Given the description of an element on the screen output the (x, y) to click on. 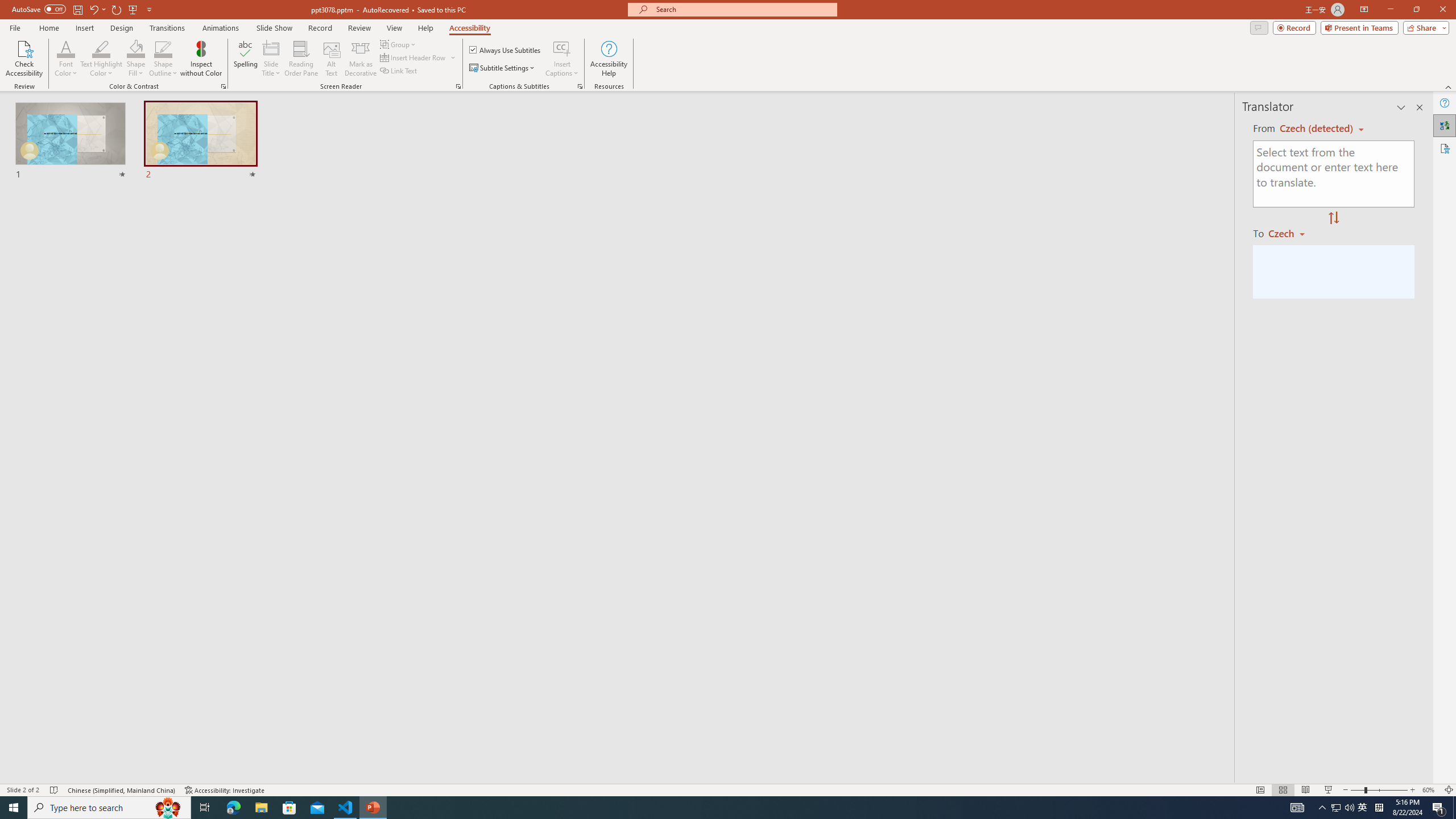
Insert Header Row (413, 56)
Inspect without Color (201, 58)
Insert Captions (561, 48)
